Given the description of an element on the screen output the (x, y) to click on. 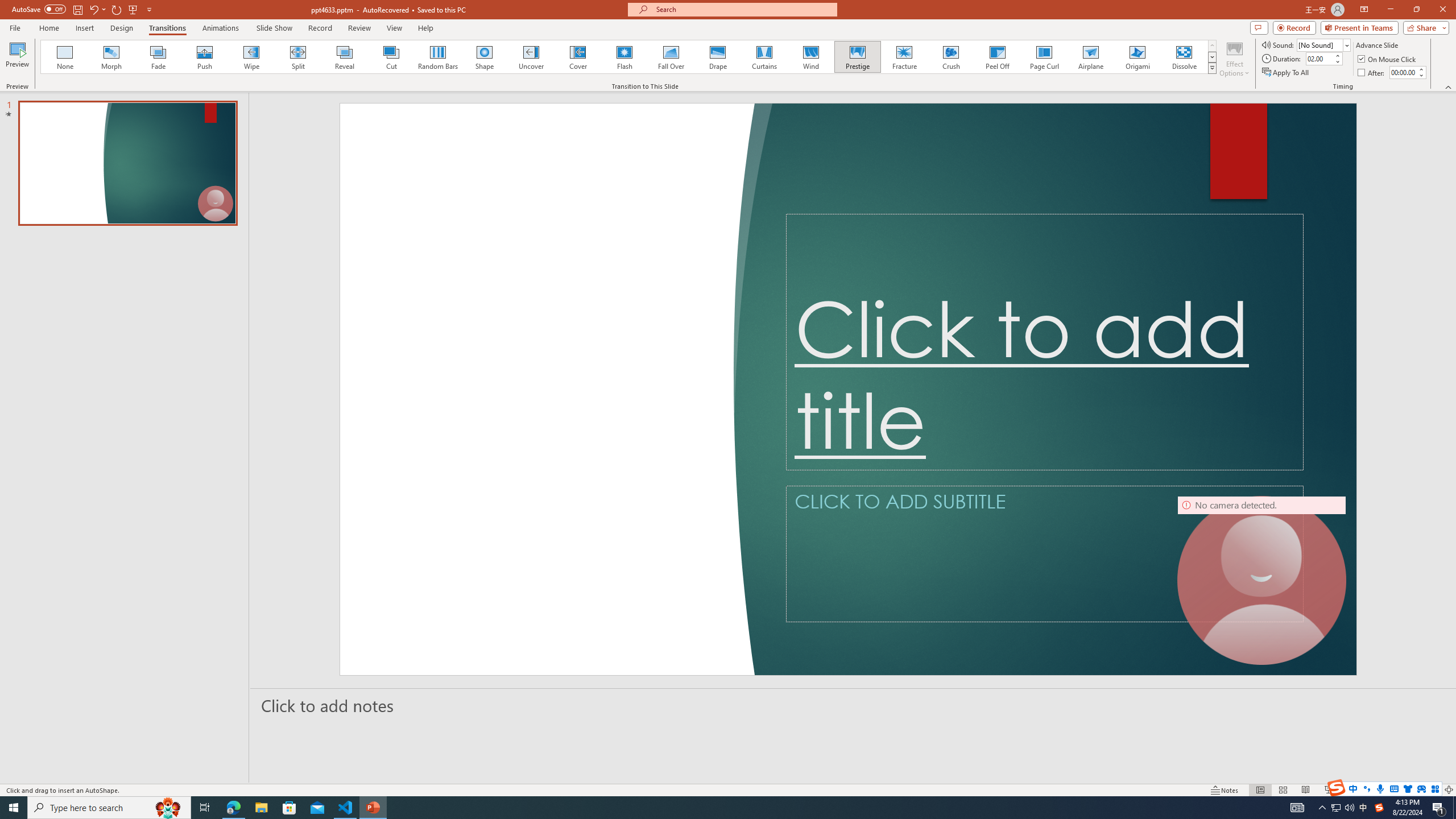
Reveal (344, 56)
Shape (484, 56)
Drape (717, 56)
Sound (1324, 44)
Curtains (764, 56)
Fade (158, 56)
